Given the description of an element on the screen output the (x, y) to click on. 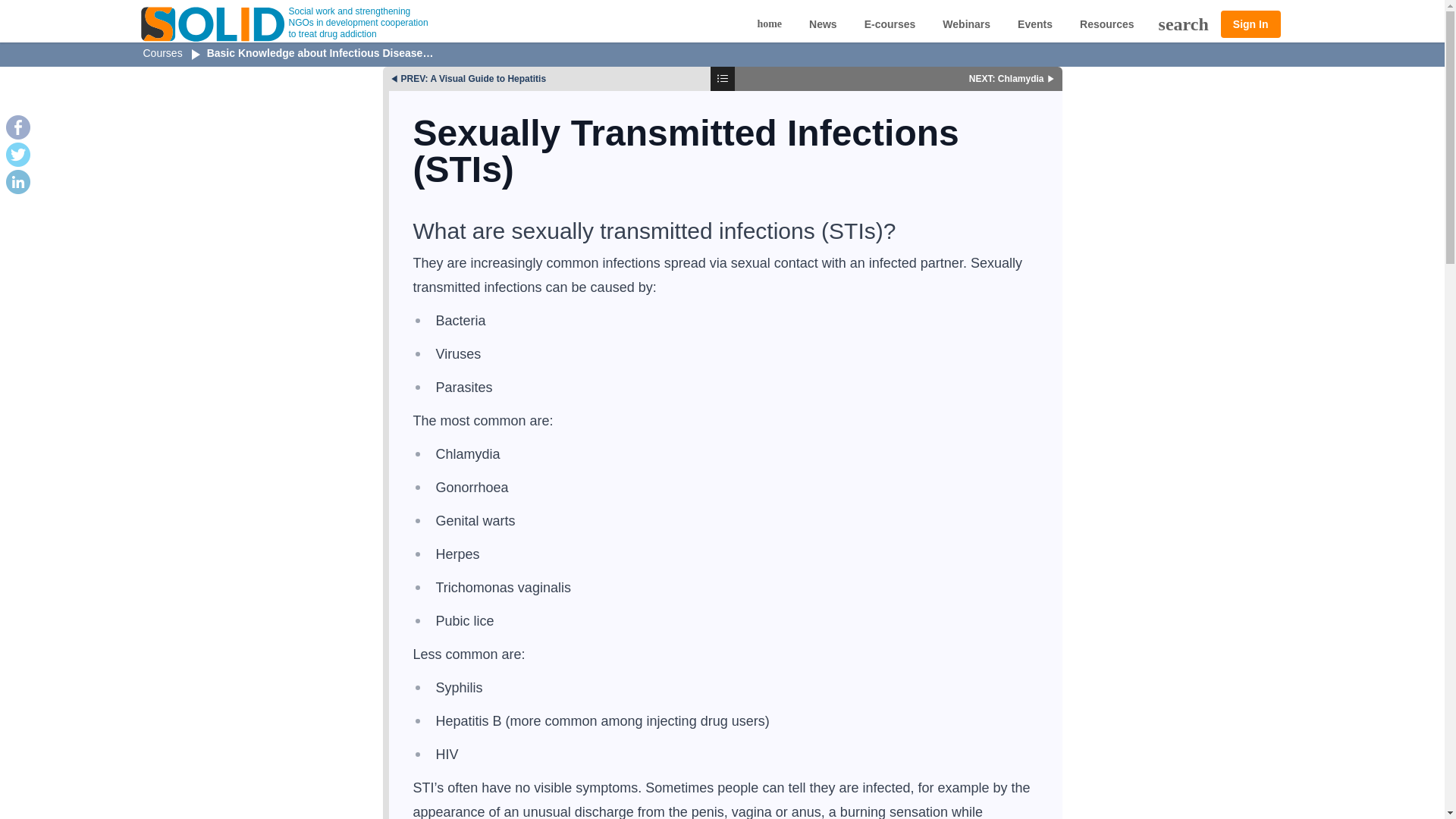
Share on LinkedIn (17, 181)
Share on Facebook (17, 127)
Webinars (966, 23)
NEXT: Chlamydia (897, 78)
home (768, 23)
E-courses (889, 23)
search (1183, 24)
Events (1035, 23)
PREV: A Visual Guide to Hepatitis (545, 78)
Sign In (1251, 23)
